Given the description of an element on the screen output the (x, y) to click on. 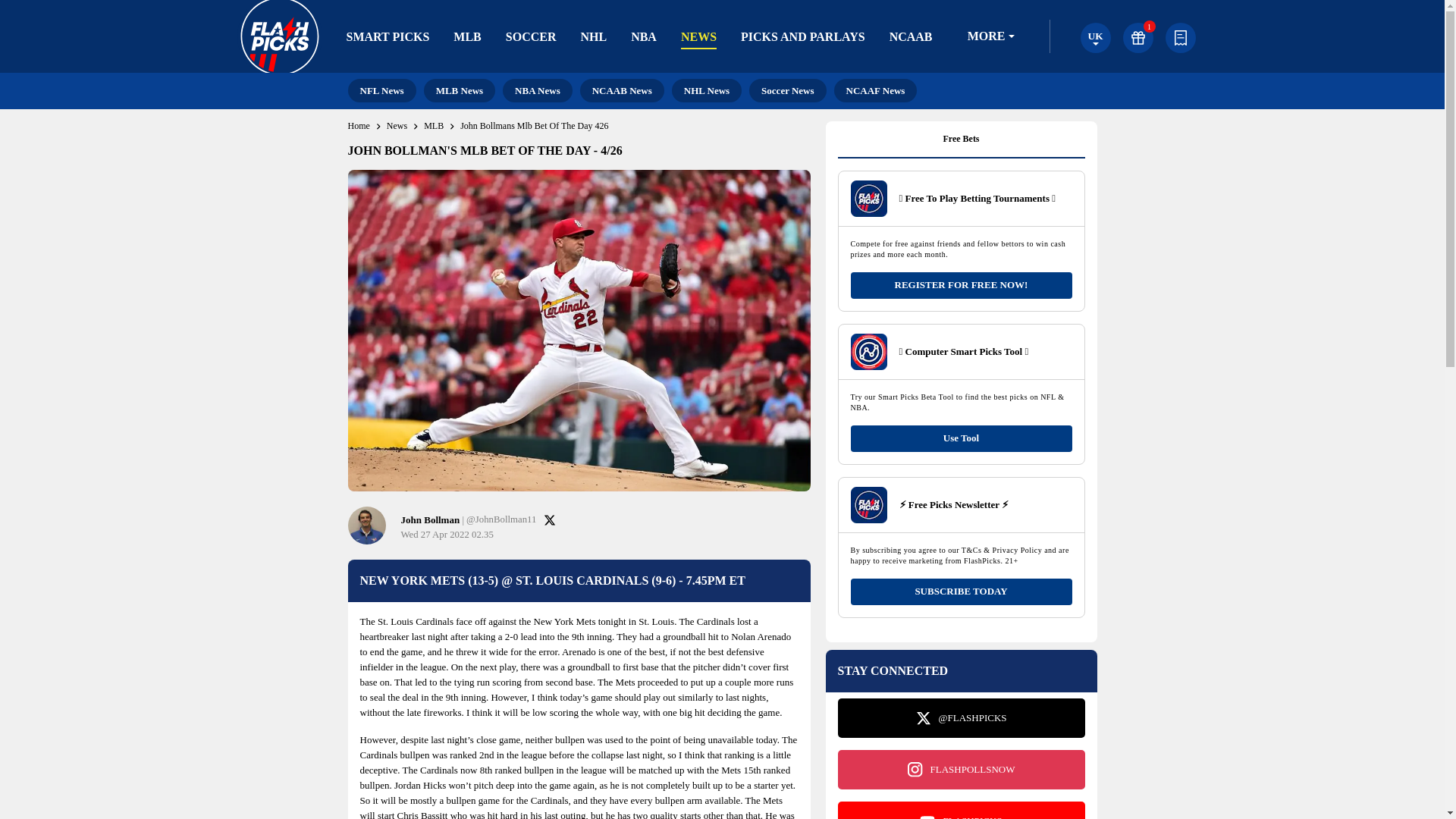
John Bollmans Mlb Bet Of The Day 426 (534, 126)
NCAAB (911, 36)
MLB (433, 126)
NBA (643, 36)
NCAAF News (875, 90)
NCAAB News (621, 90)
NBA News (537, 90)
MLB News (459, 90)
Home (358, 126)
NHL (593, 36)
